Given the description of an element on the screen output the (x, y) to click on. 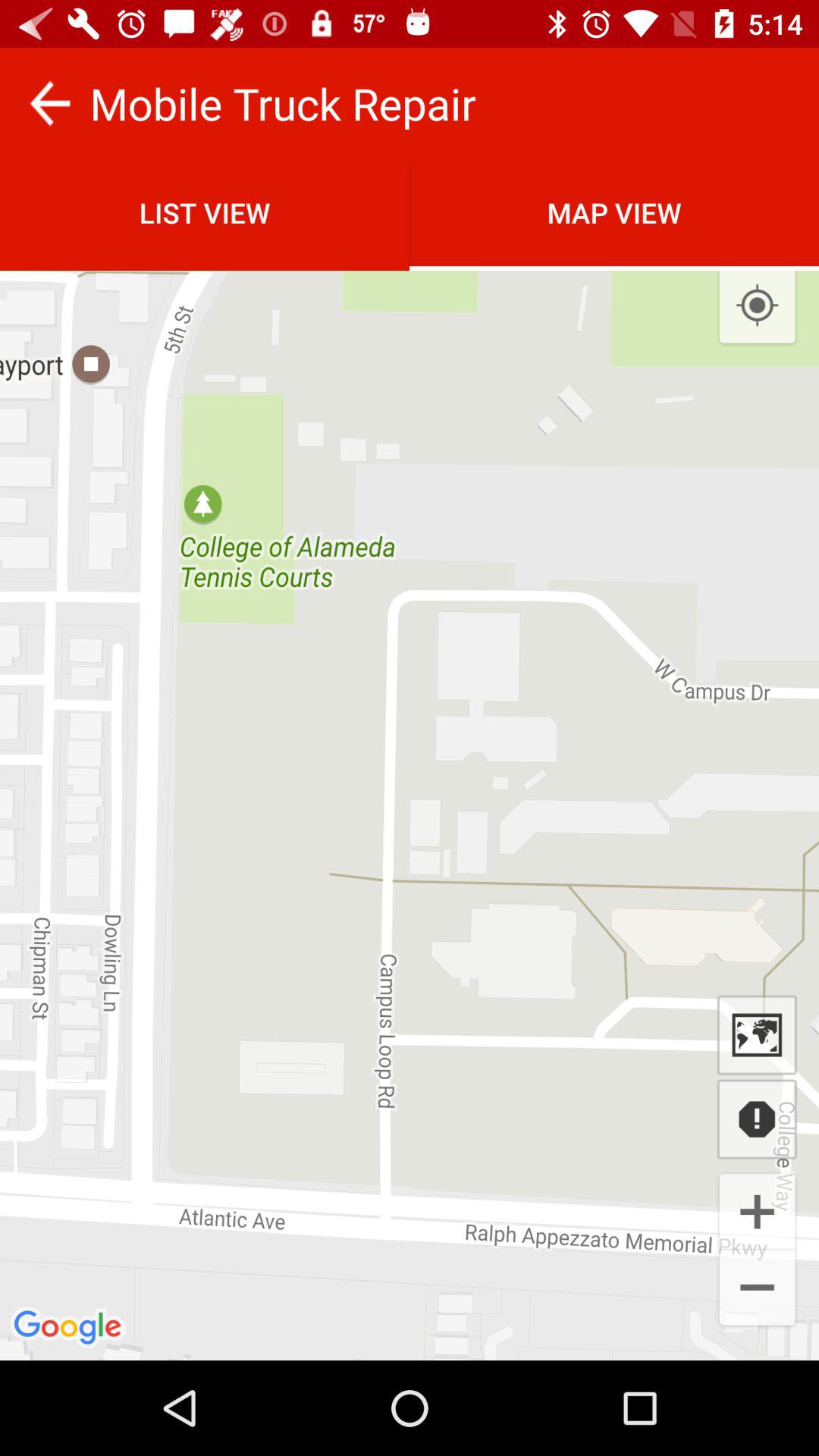
turn on app next to mobile truck repair (49, 103)
